Given the description of an element on the screen output the (x, y) to click on. 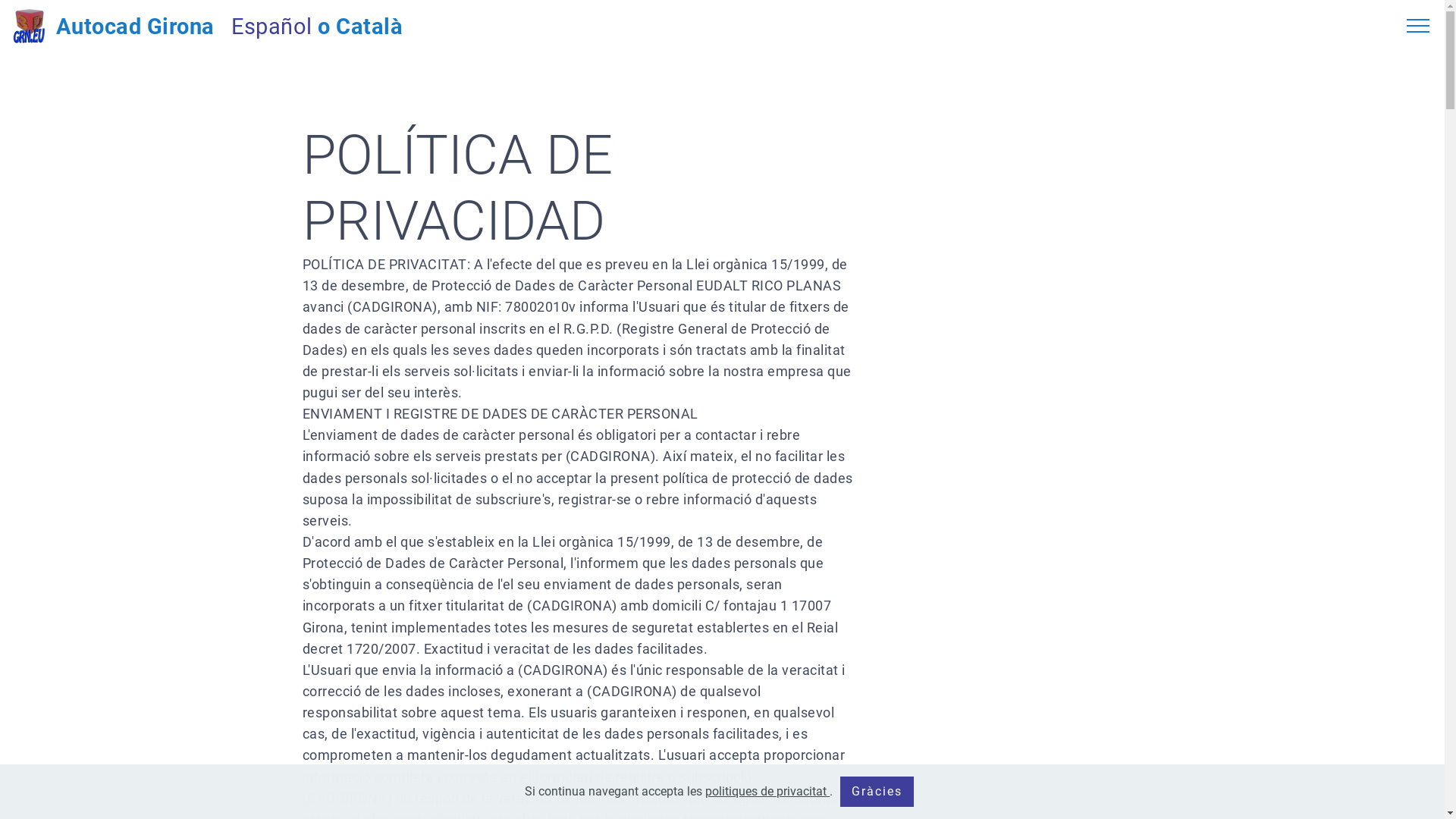
politiques de privacitat Element type: text (767, 791)
3D GIRONA EUDALT Element type: hover (29, 26)
